Given the description of an element on the screen output the (x, y) to click on. 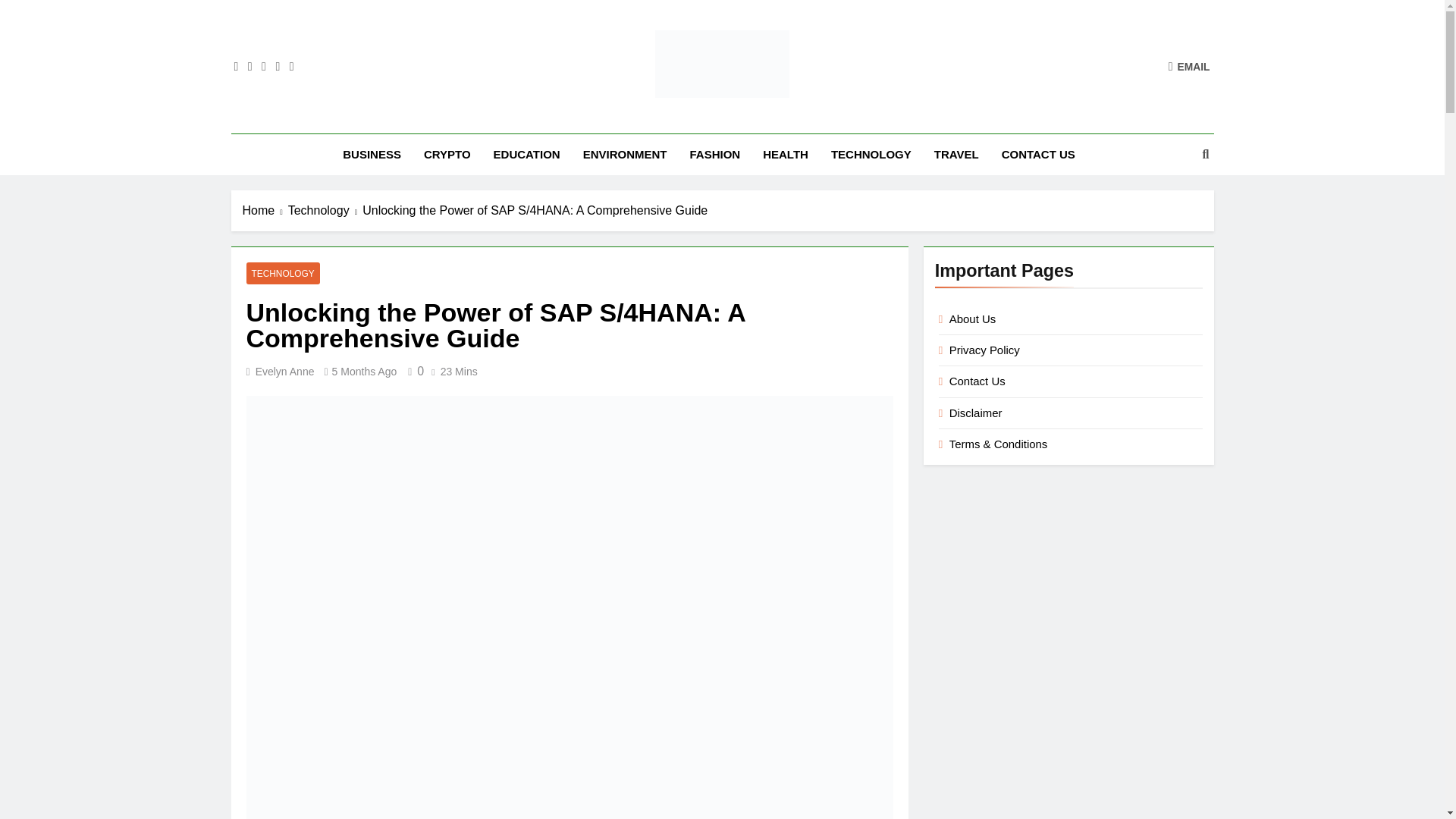
Evelyn Anne (285, 371)
CRYPTO (446, 153)
0 (413, 369)
BUSINESS (371, 153)
Home (265, 210)
EMAIL (1189, 65)
HEALTH (785, 153)
TECHNOLOGY (871, 153)
TECHNOLOGY (282, 273)
5 Months Ago (364, 371)
